Given the description of an element on the screen output the (x, y) to click on. 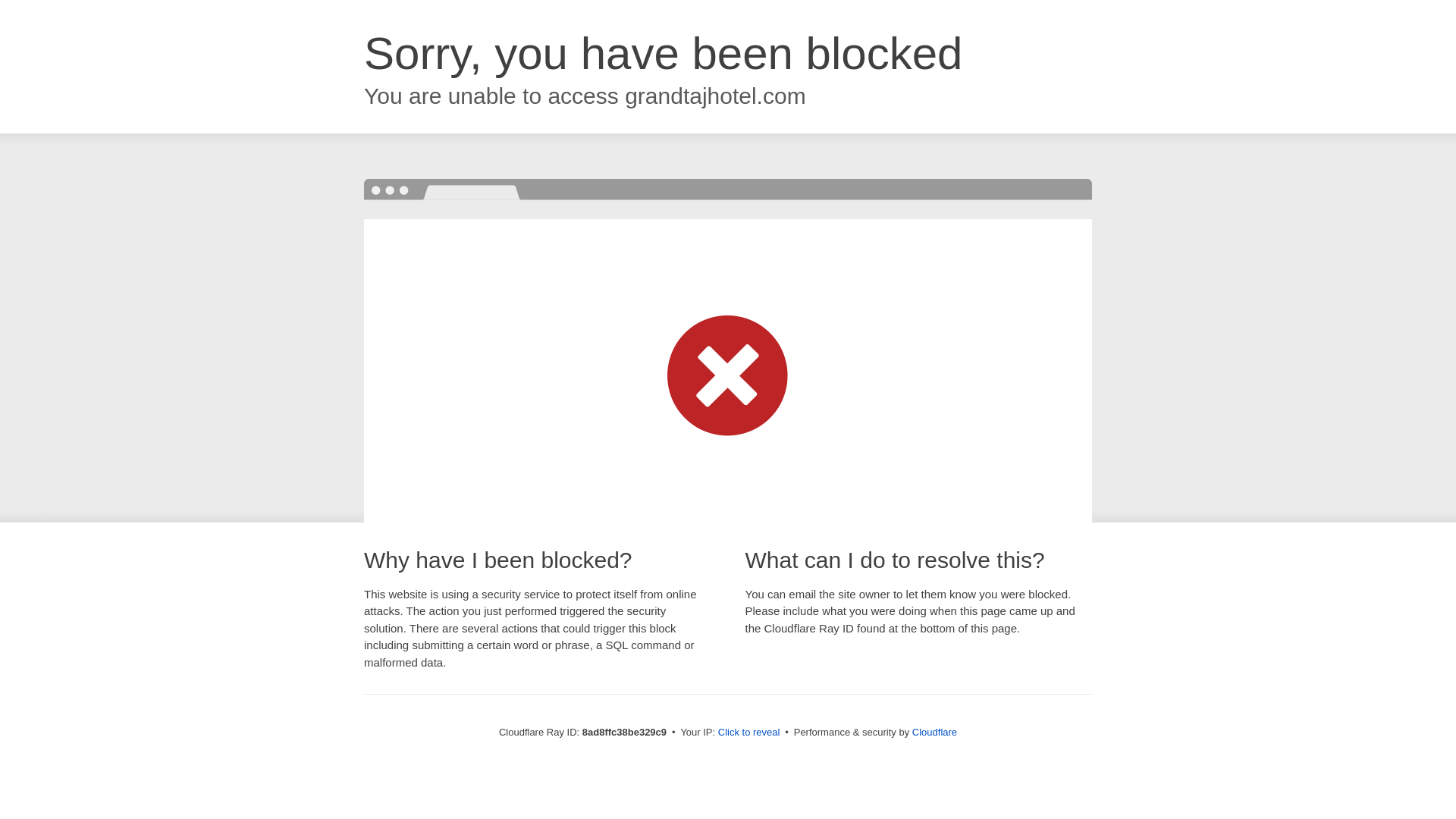
Cloudflare (934, 731)
Click to reveal (748, 732)
